Given the description of an element on the screen output the (x, y) to click on. 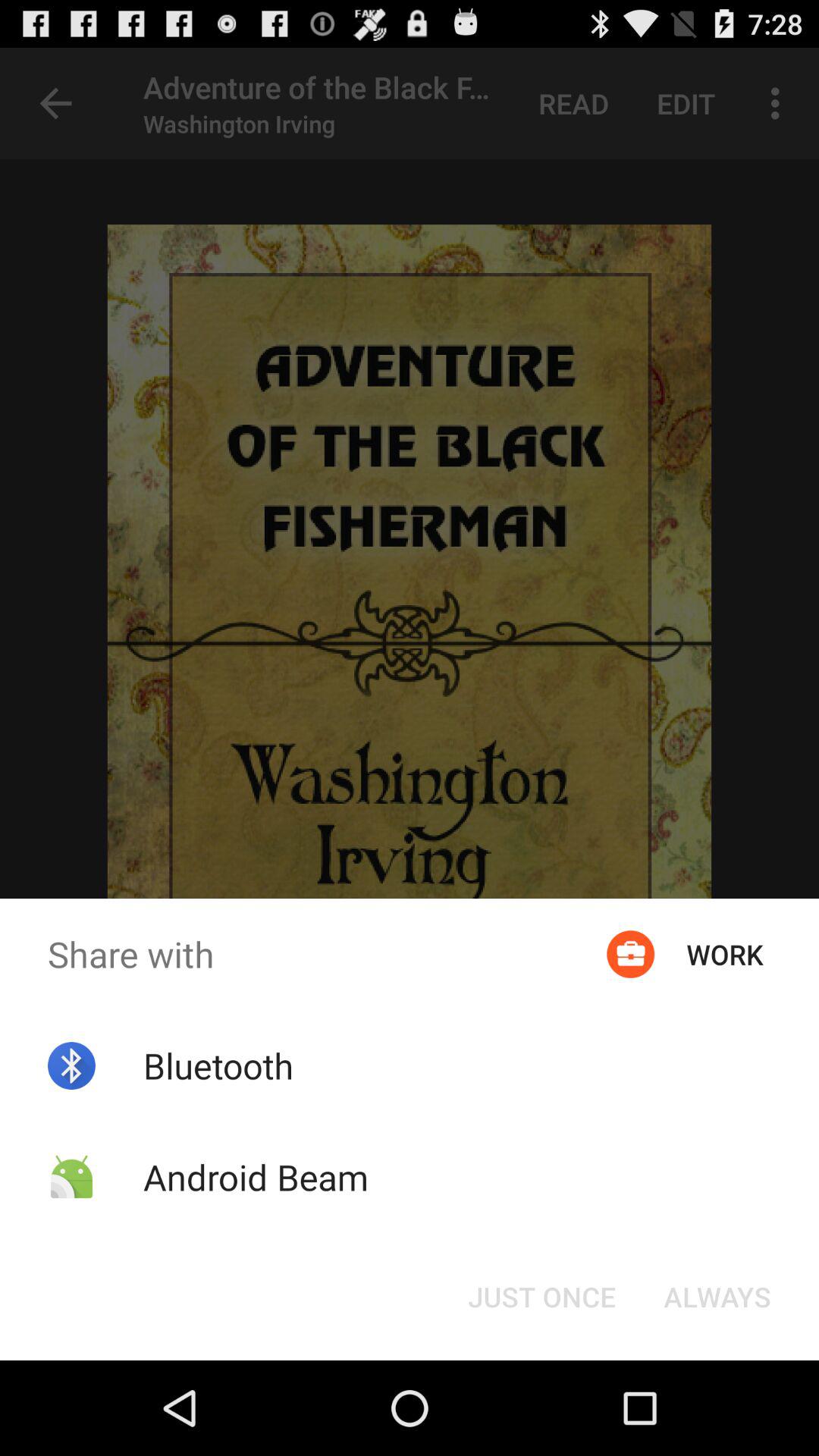
turn off the button at the bottom (541, 1296)
